Given the description of an element on the screen output the (x, y) to click on. 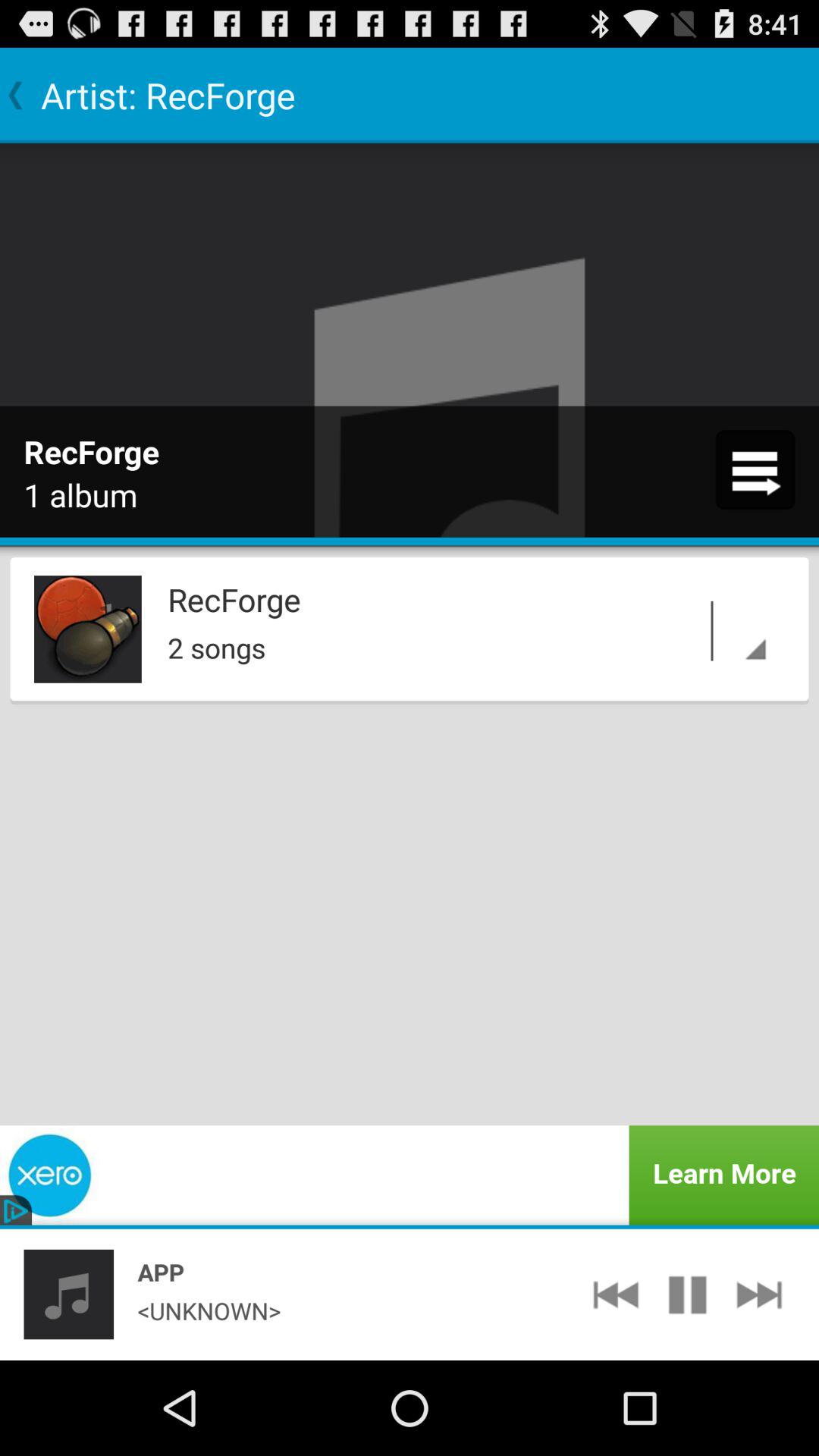
tap the 2 songs
 app (470, 643)
